Given the description of an element on the screen output the (x, y) to click on. 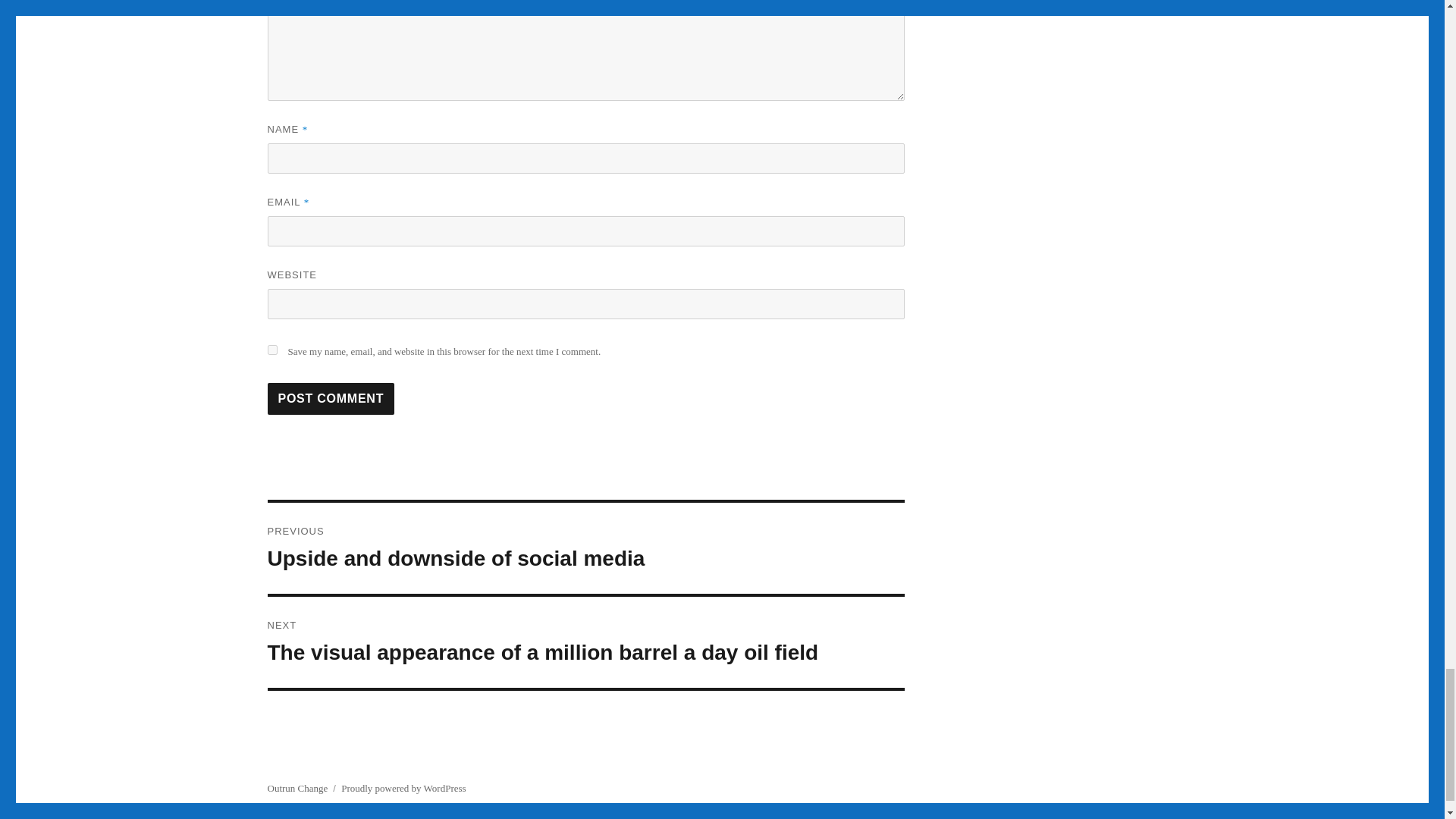
yes (271, 349)
Post Comment (330, 398)
Post Comment (585, 547)
